Given the description of an element on the screen output the (x, y) to click on. 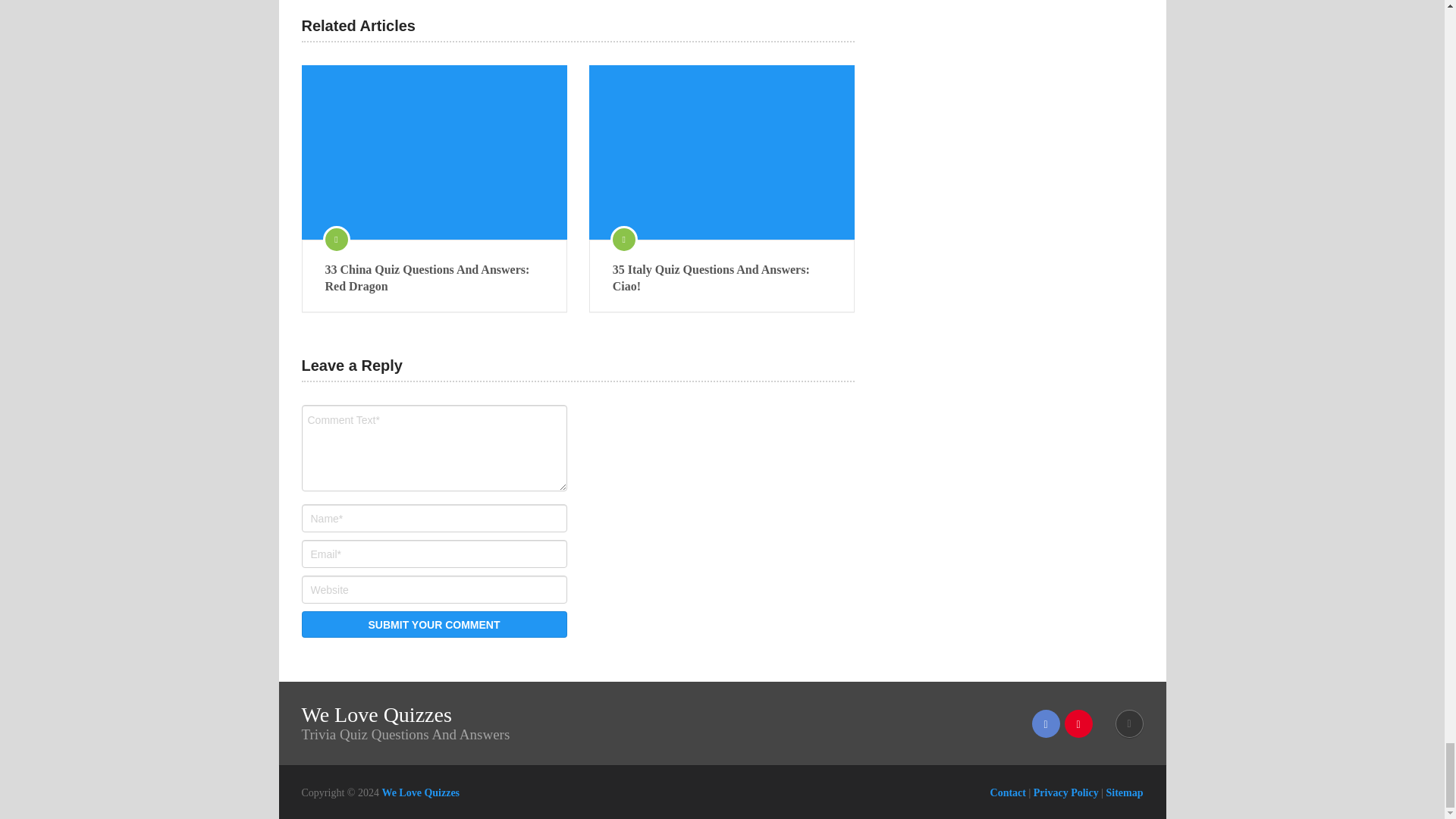
Submit Your Comment (434, 624)
Sitemap (1123, 792)
Submit Your Comment (434, 624)
35 Italy Quiz Questions And Answers: Ciao! (721, 152)
We Love Quizzes (420, 792)
35 Italy Quiz Questions And Answers: Ciao! (721, 278)
Trivia Quiz Questions And Answers (420, 792)
33 China Quiz Questions And Answers: Red Dragon (433, 278)
33 China Quiz Questions And Answers: Red Dragon (434, 152)
We Love Quizzes (376, 714)
Privacy Policy (1066, 792)
33 China Quiz Questions And Answers: Red Dragon (433, 278)
35 Italy Quiz Questions And Answers: Ciao! (721, 278)
Contact (1008, 792)
